Given the description of an element on the screen output the (x, y) to click on. 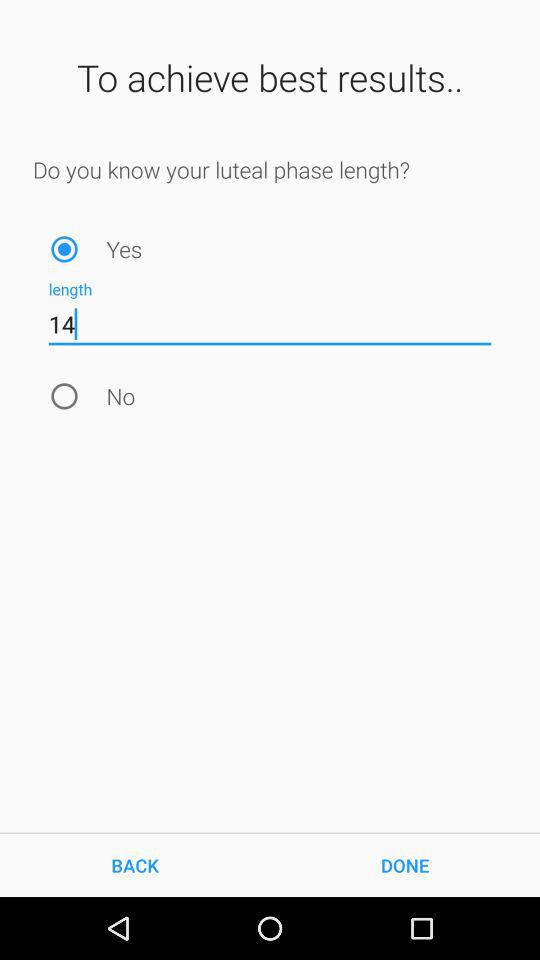
tap the 14 item (269, 324)
